Given the description of an element on the screen output the (x, y) to click on. 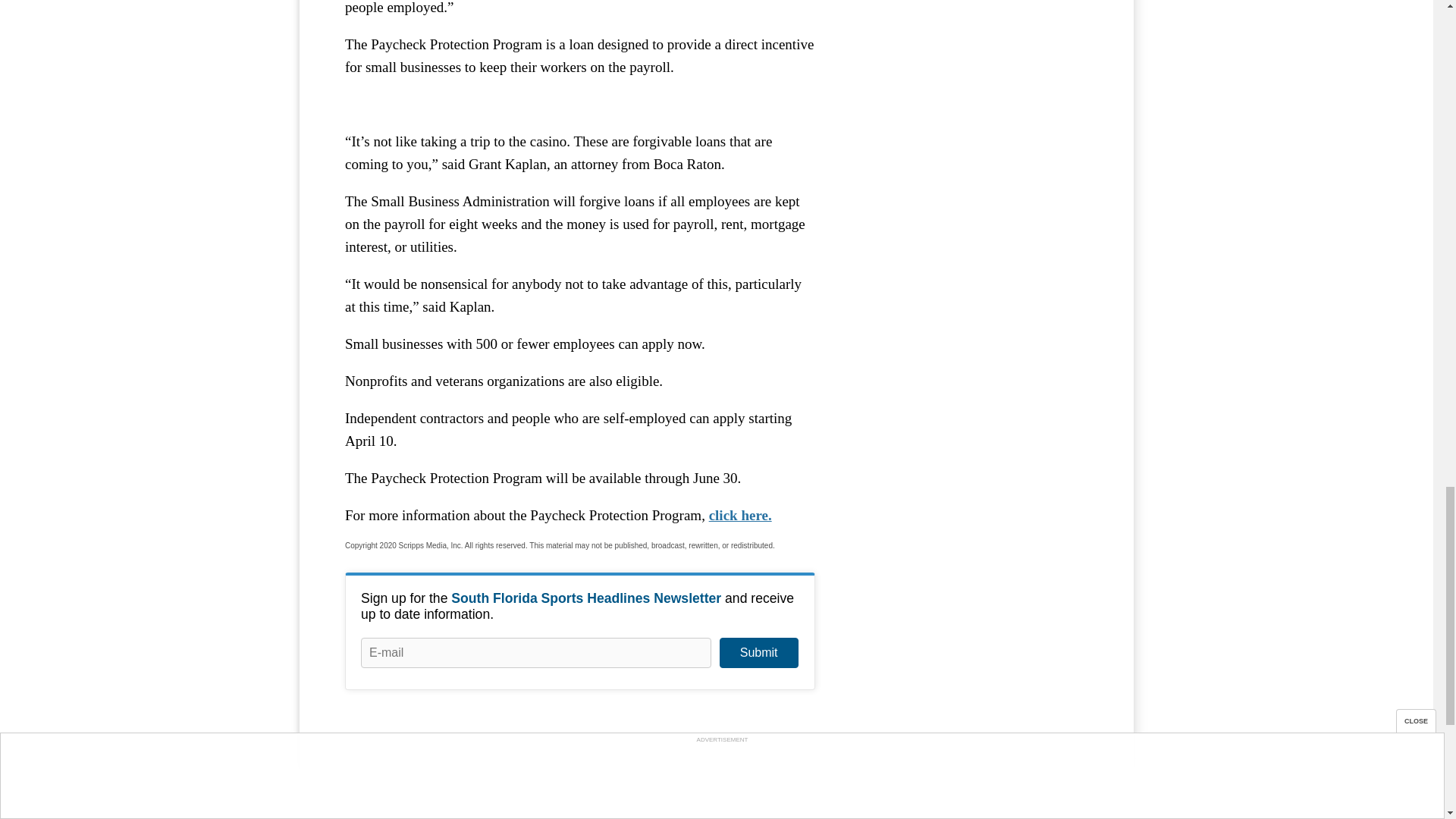
Submit (758, 653)
